Given the description of an element on the screen output the (x, y) to click on. 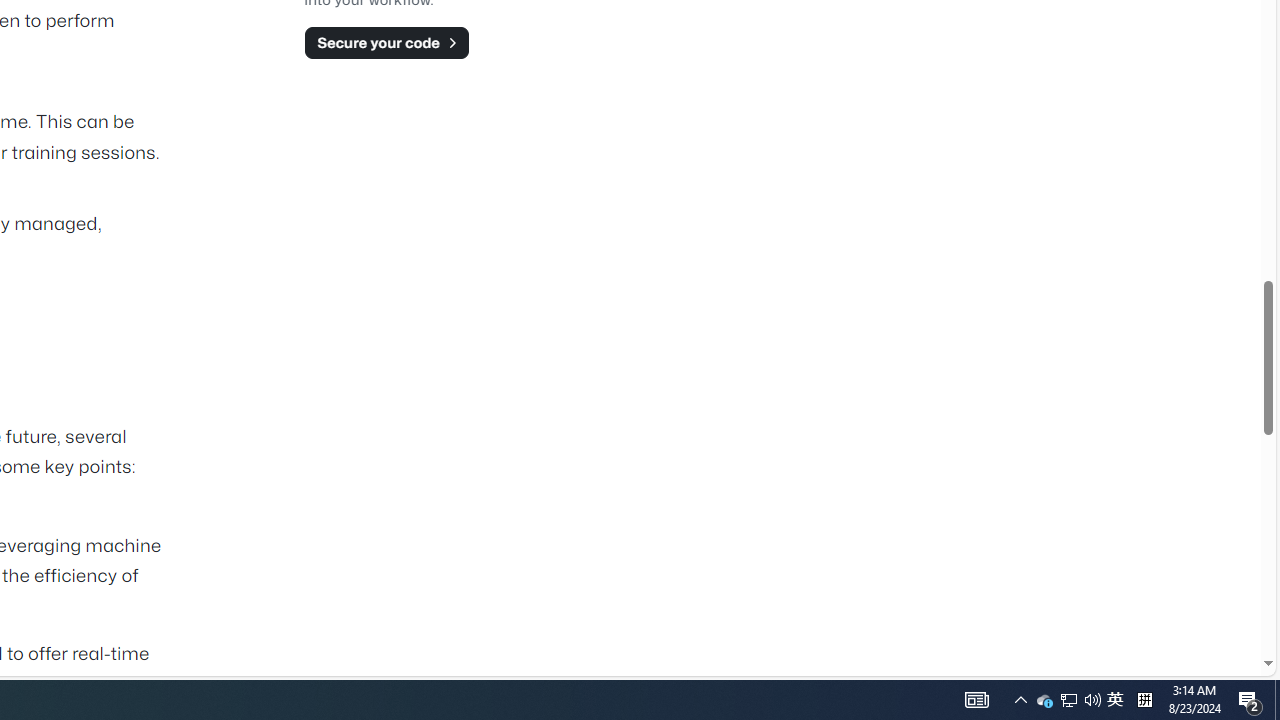
Secure your code (386, 42)
